Given the description of an element on the screen output the (x, y) to click on. 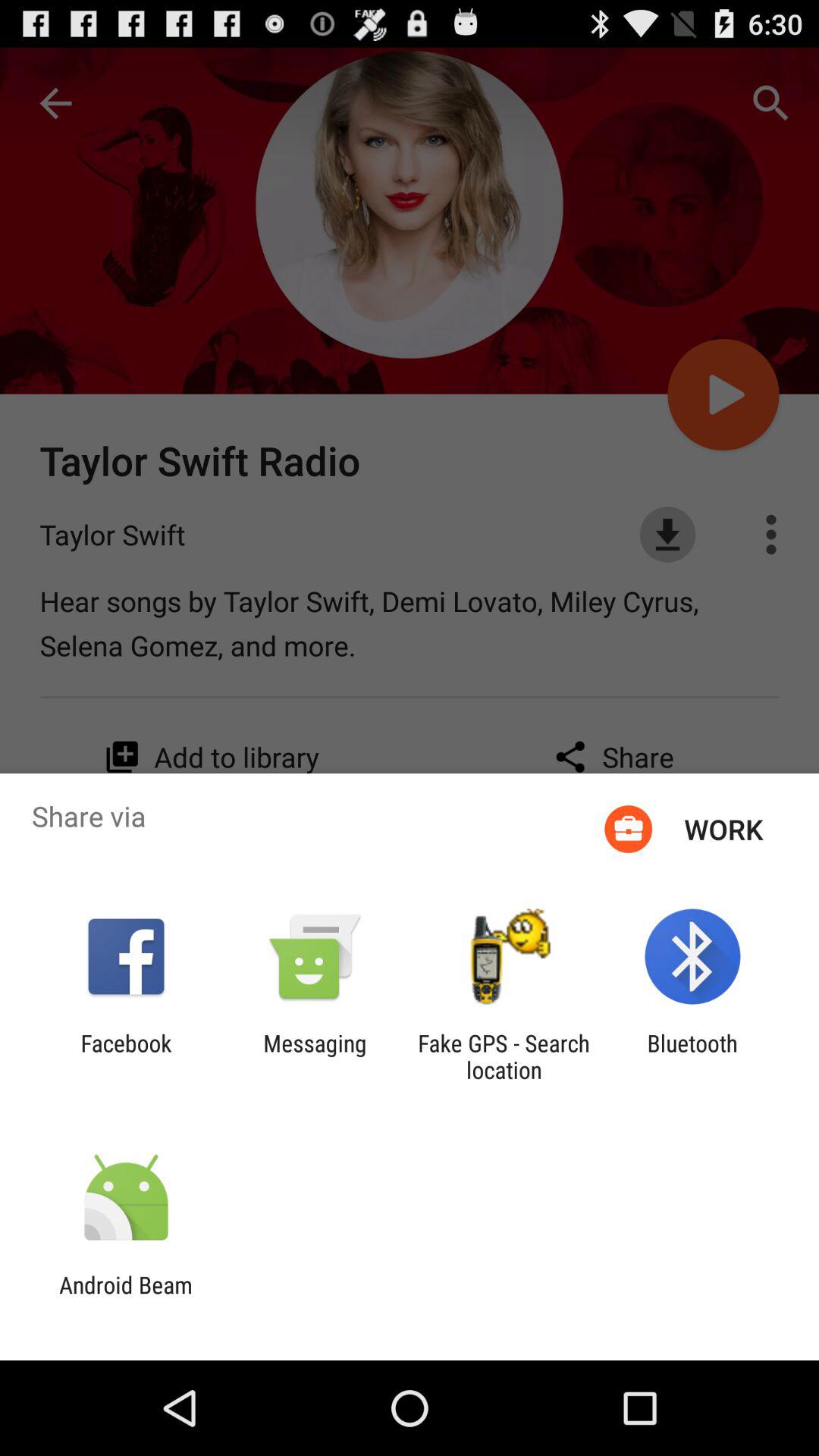
tap the icon at the bottom right corner (692, 1056)
